Given the description of an element on the screen output the (x, y) to click on. 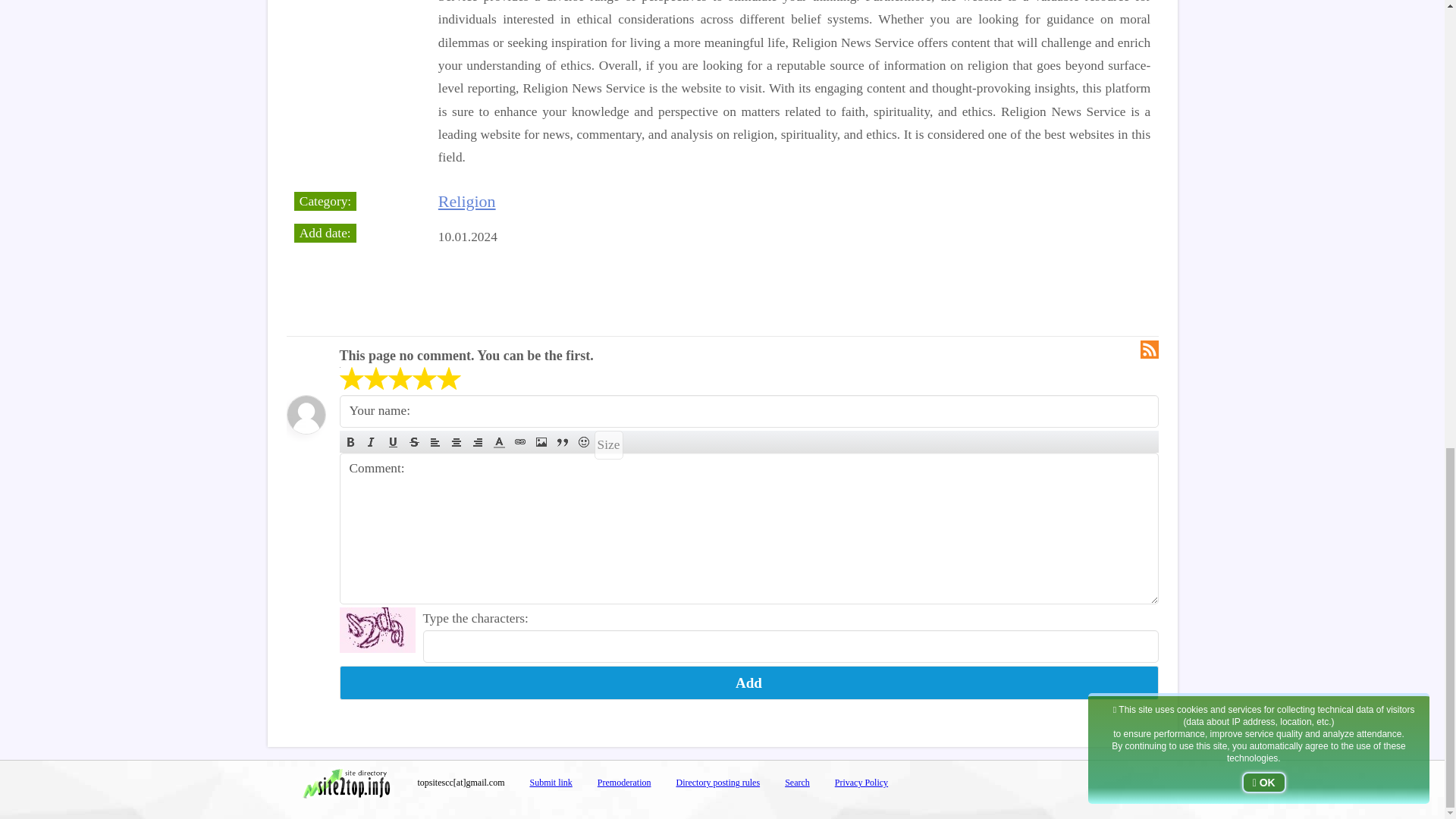
Add (748, 682)
Religion (467, 200)
